Given the description of an element on the screen output the (x, y) to click on. 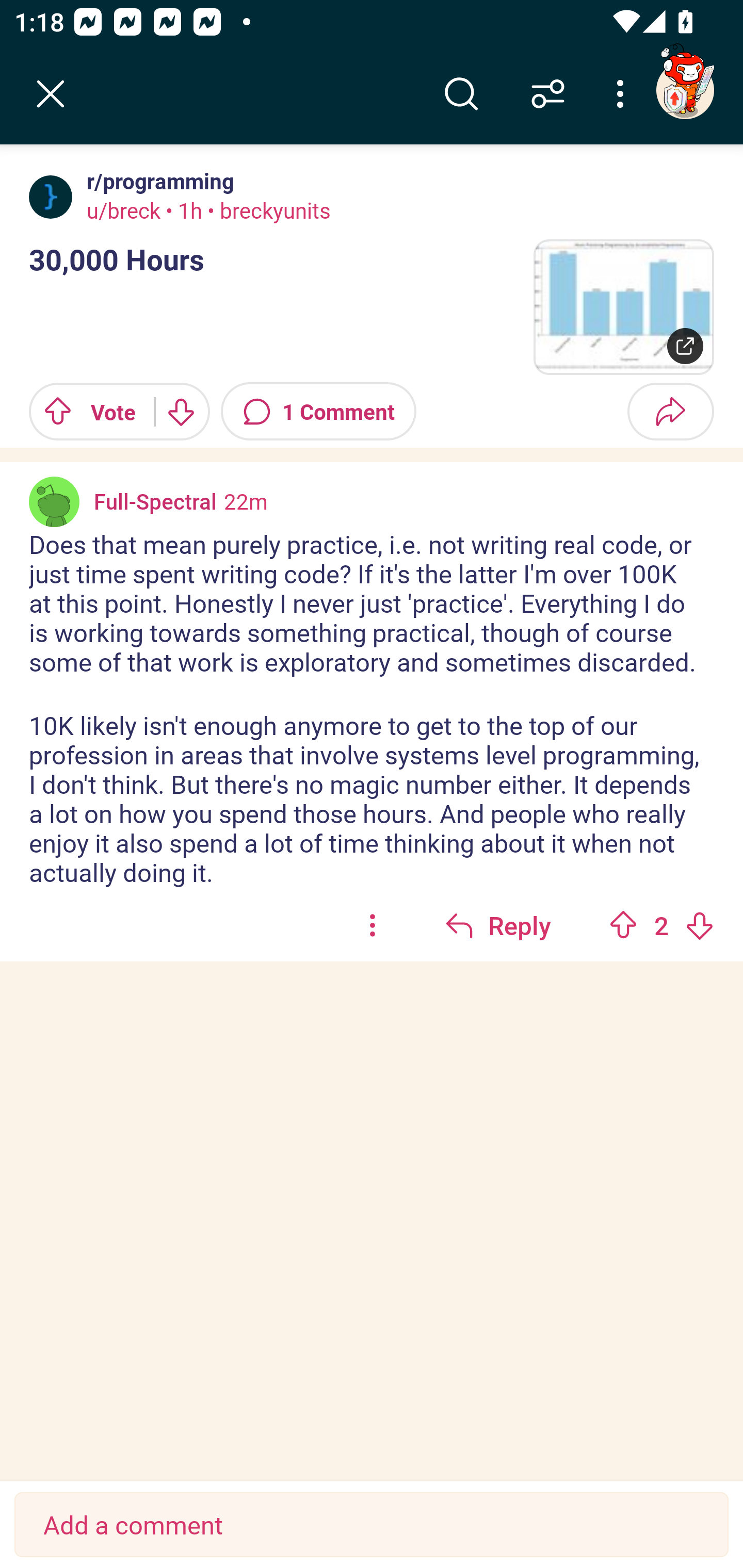
Back (50, 93)
TestAppium002 account (685, 90)
Search comments (460, 93)
Sort comments (547, 93)
More options (623, 93)
r/programming (156, 181)
Avatar (50, 196)
u/breck (123, 210)
 • breckyunits (266, 210)
Thumbnail image (623, 306)
Upvote Vote (83, 411)
Downvote (179, 411)
1 Comment (318, 411)
Share (670, 411)
Avatar (53, 501)
22m (245, 500)
options (372, 925)
Reply (498, 925)
Upvote 2 2 votes Downvote (661, 925)
Upvote (622, 925)
Downvote (699, 925)
Add a comment (371, 1524)
